Given the description of an element on the screen output the (x, y) to click on. 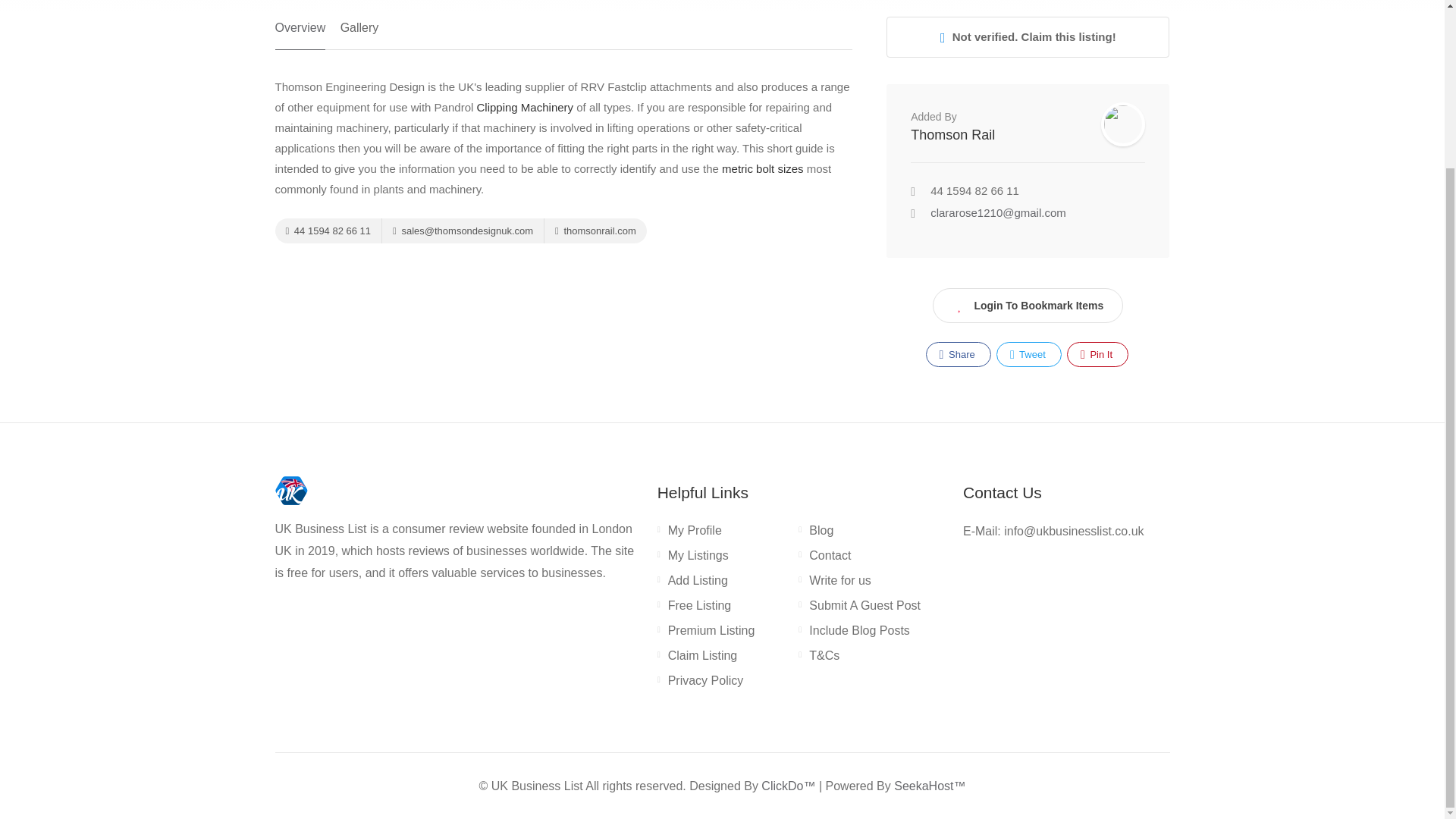
thomsonrail.com (594, 230)
Login To Bookmark Items (1027, 305)
44 1594 82 66 11 (328, 230)
metric bolt sizes (762, 168)
Gallery (359, 33)
Twitter (1028, 354)
Tweet (1028, 354)
Thomson Rail (952, 134)
Share (958, 354)
Clipping Machinery (524, 106)
Overview (299, 33)
Not verified. Claim this listing! (1027, 36)
